Given the description of an element on the screen output the (x, y) to click on. 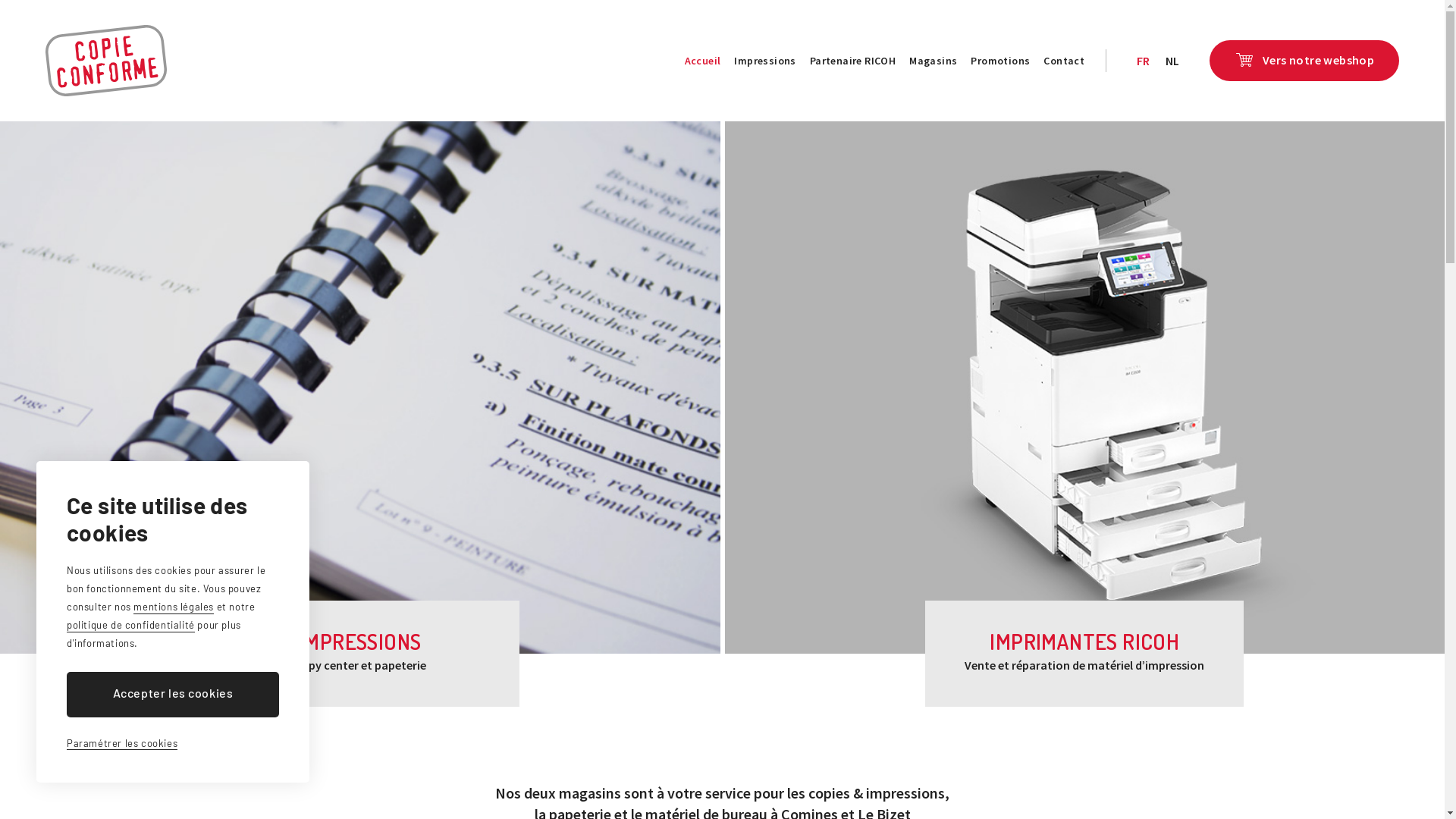
Accueil Element type: text (702, 60)
Promotions Element type: text (999, 60)
NL Element type: text (1171, 60)
Impressions Element type: text (764, 60)
Magasins Element type: text (933, 60)
Vers notre webshop Element type: text (1304, 60)
Partenaire RICOH Element type: text (852, 60)
Copie Conforme Element type: hover (105, 60)
Contact Element type: text (1063, 60)
IMPRESSIONS
Copy center et papeterie Element type: text (359, 653)
FR Element type: text (1143, 60)
